Given the description of an element on the screen output the (x, y) to click on. 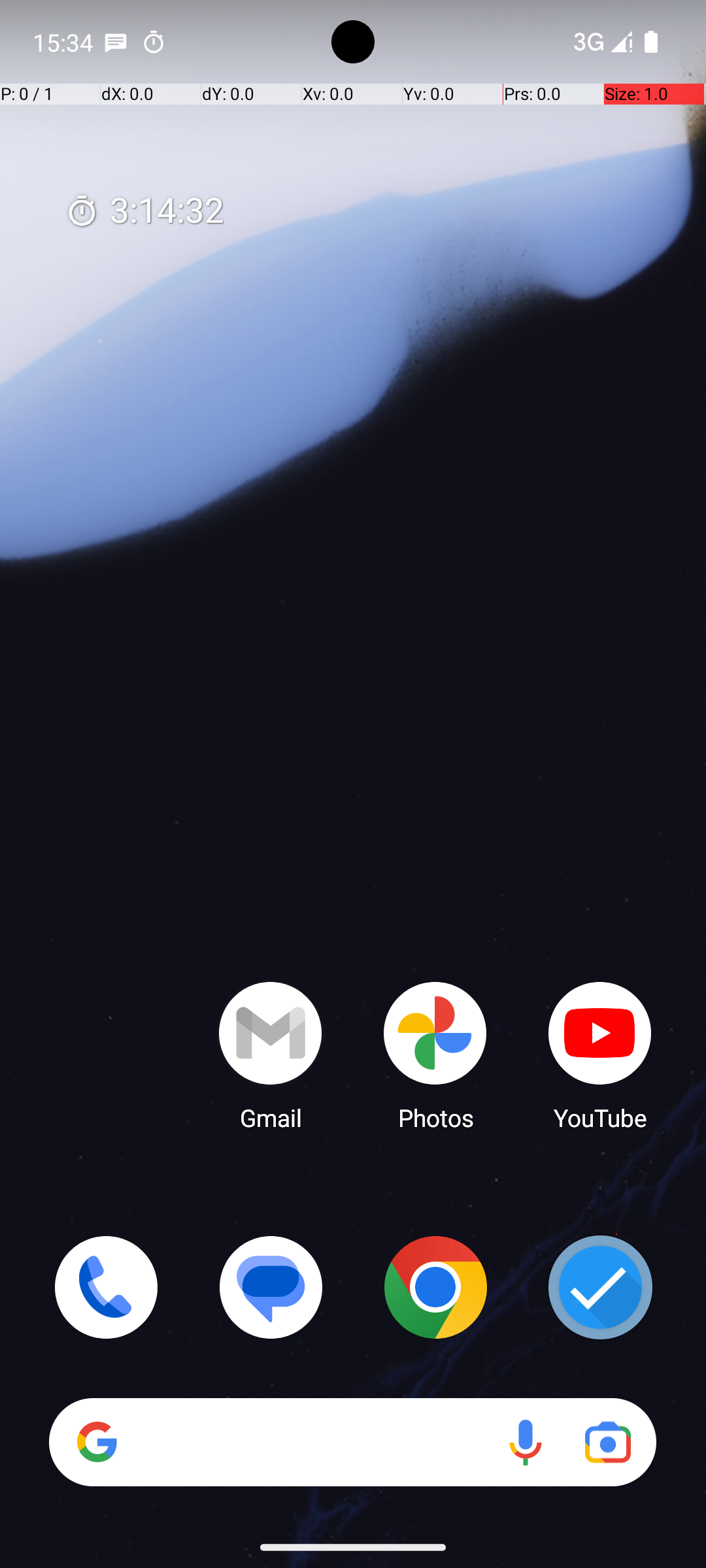
3:14:34 Element type: android.widget.TextView (144, 210)
